Given the description of an element on the screen output the (x, y) to click on. 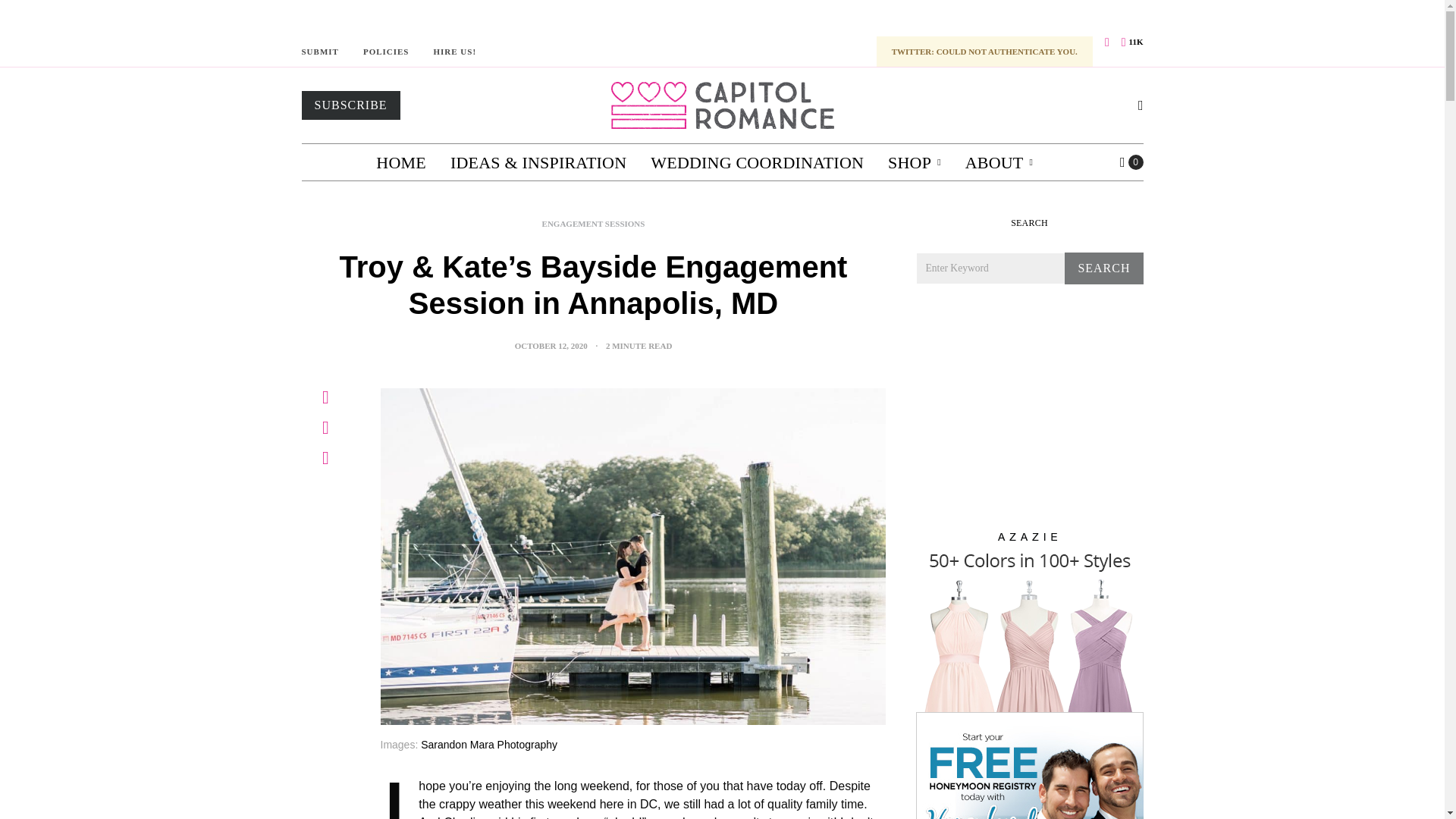
HOME (400, 162)
SUBSCRIBE (350, 104)
11K (1131, 42)
POLICIES (385, 51)
View your shopping cart (1130, 161)
HIRE US! (454, 51)
SHOP (914, 162)
SUBMIT (320, 51)
WEDDING COORDINATION (756, 162)
